Given the description of an element on the screen output the (x, y) to click on. 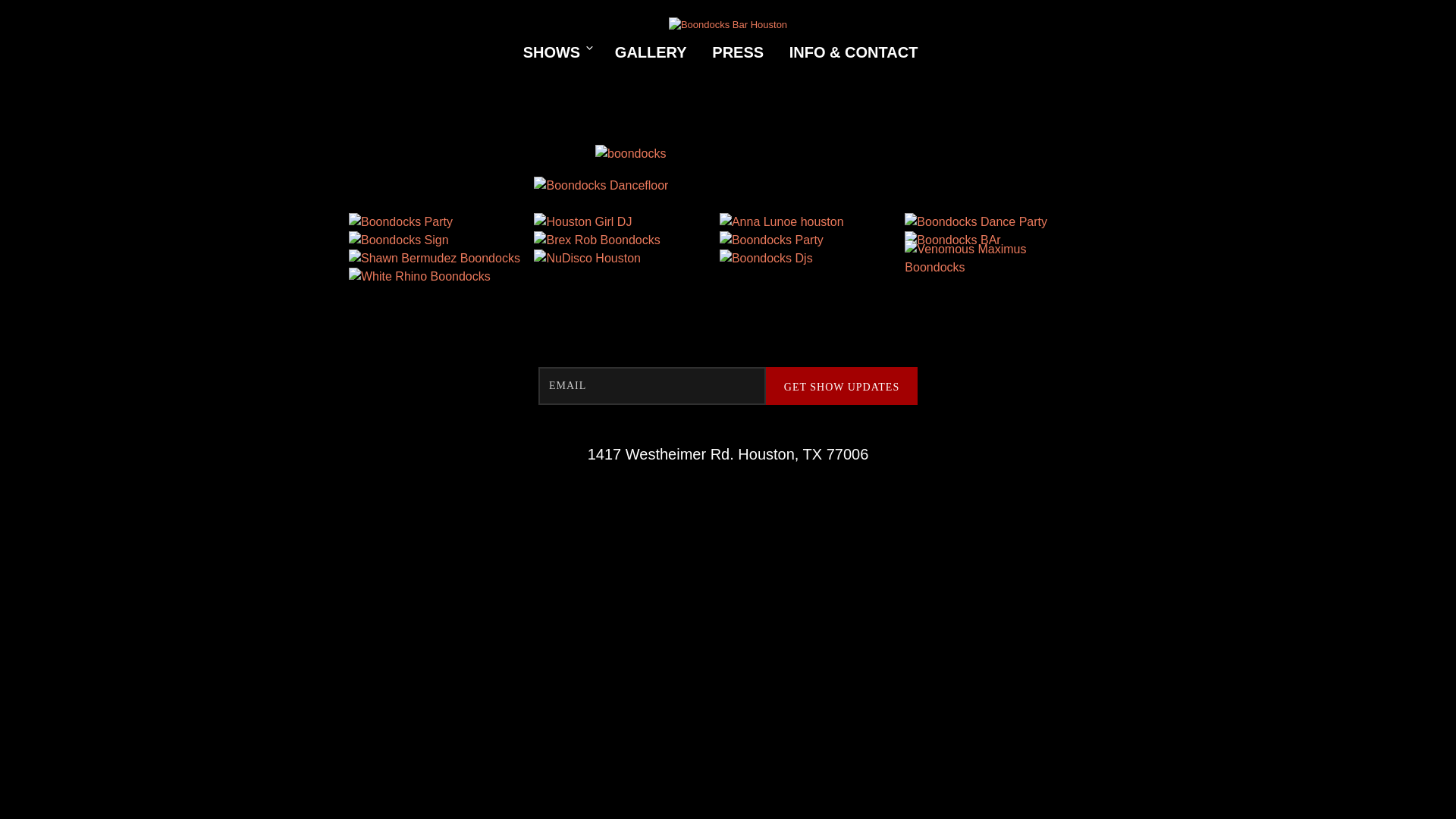
PRESS Element type: text (737, 51)
Good Shows & Cheap Booze Element type: hover (727, 24)
SHOWS Element type: text (551, 51)
INFO & CONTACT Element type: text (853, 51)
GET SHOW UPDATES Element type: text (841, 385)
GALLERY Element type: text (650, 51)
